Given the description of an element on the screen output the (x, y) to click on. 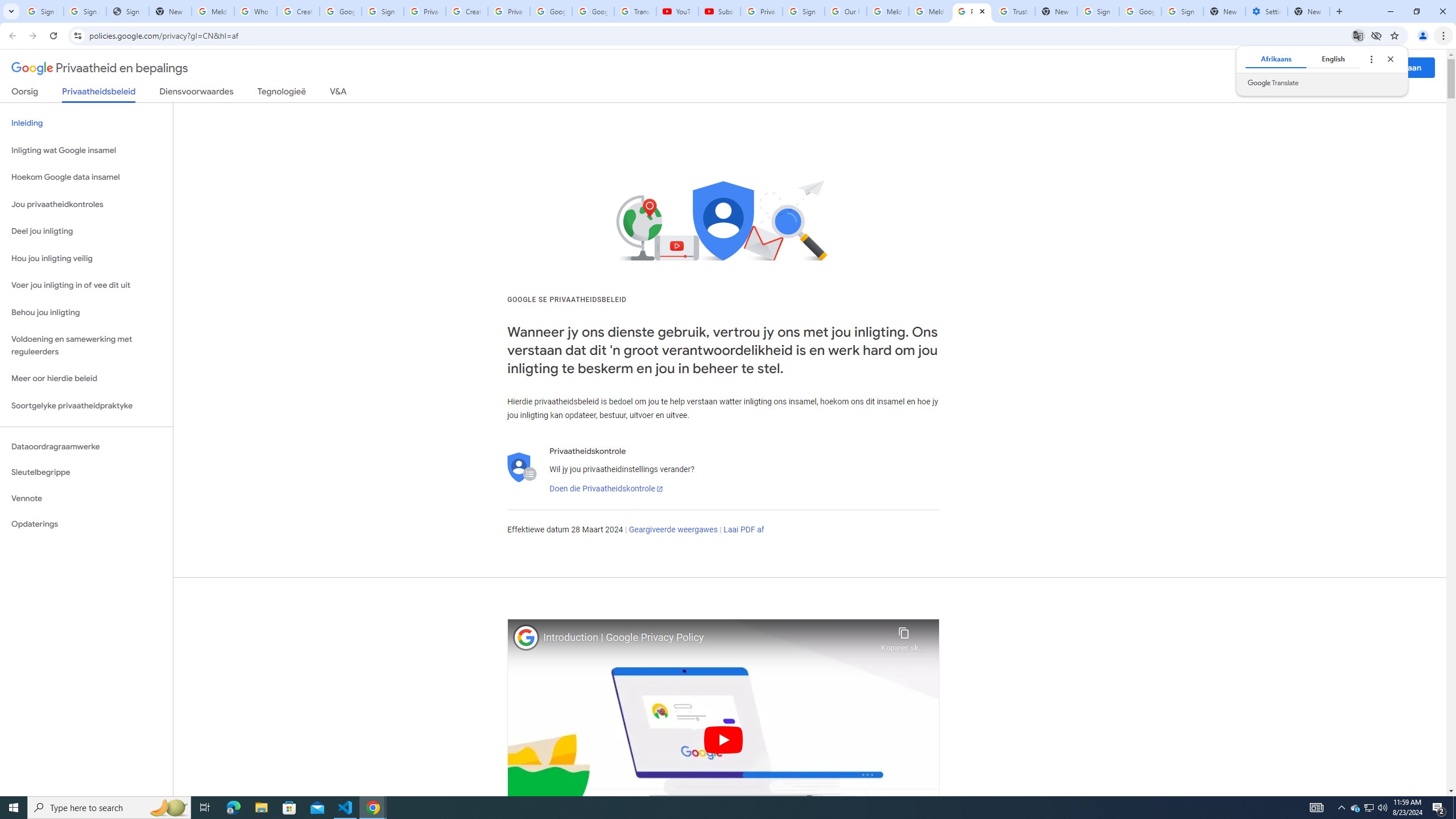
Deel jou inligting (86, 230)
Vennote (86, 497)
Sign in - Google Accounts (85, 11)
Doen die Privaatheidskontrole (605, 488)
Oorsig (25, 93)
Sign in - Google Accounts (803, 11)
Kopieer skakel (903, 636)
Subscriptions - YouTube (719, 11)
Trusted Information and Content - Google Safety Center (1013, 11)
